Given the description of an element on the screen output the (x, y) to click on. 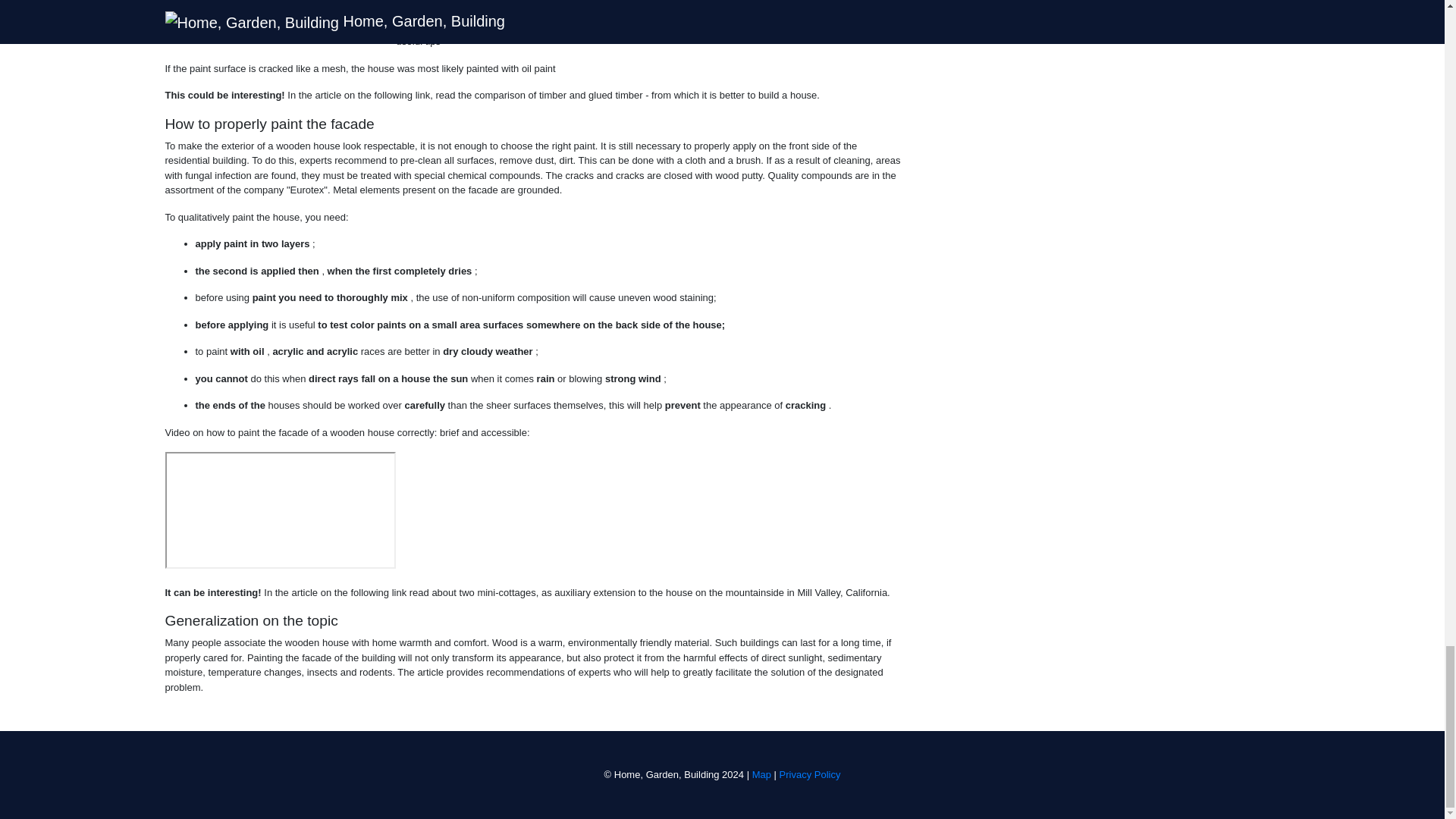
Map (761, 774)
Privacy Policy (809, 774)
